Given the description of an element on the screen output the (x, y) to click on. 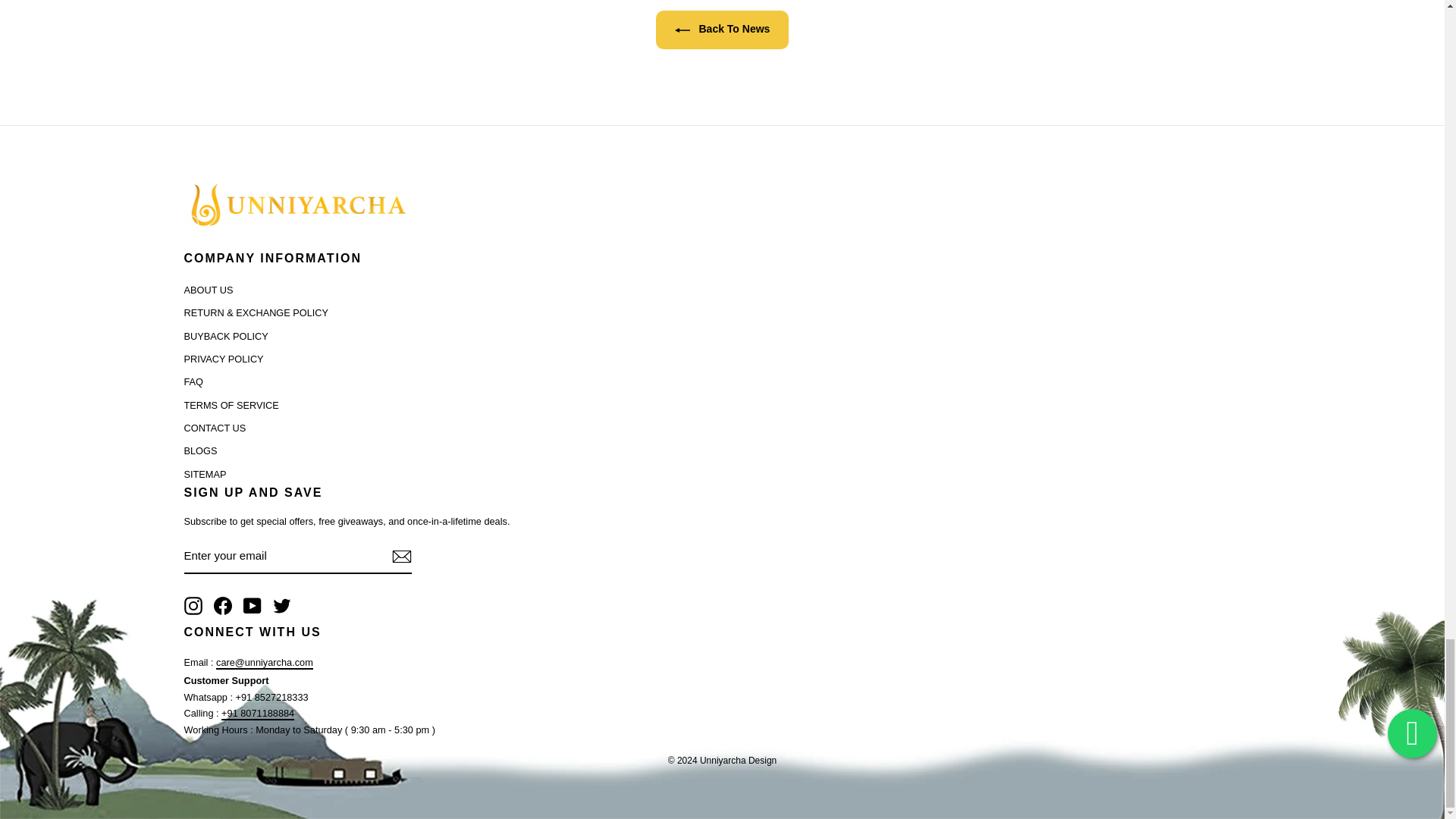
Unniyarcha Design on Facebook (222, 606)
Unniyarcha Design on Twitter (282, 606)
twitter (282, 606)
icon-email (400, 556)
Unniyarcha Design on YouTube (251, 606)
instagram (192, 606)
Icon-Left-Arrow (682, 29)
Unniyarcha Design on Instagram (192, 606)
